Given the description of an element on the screen output the (x, y) to click on. 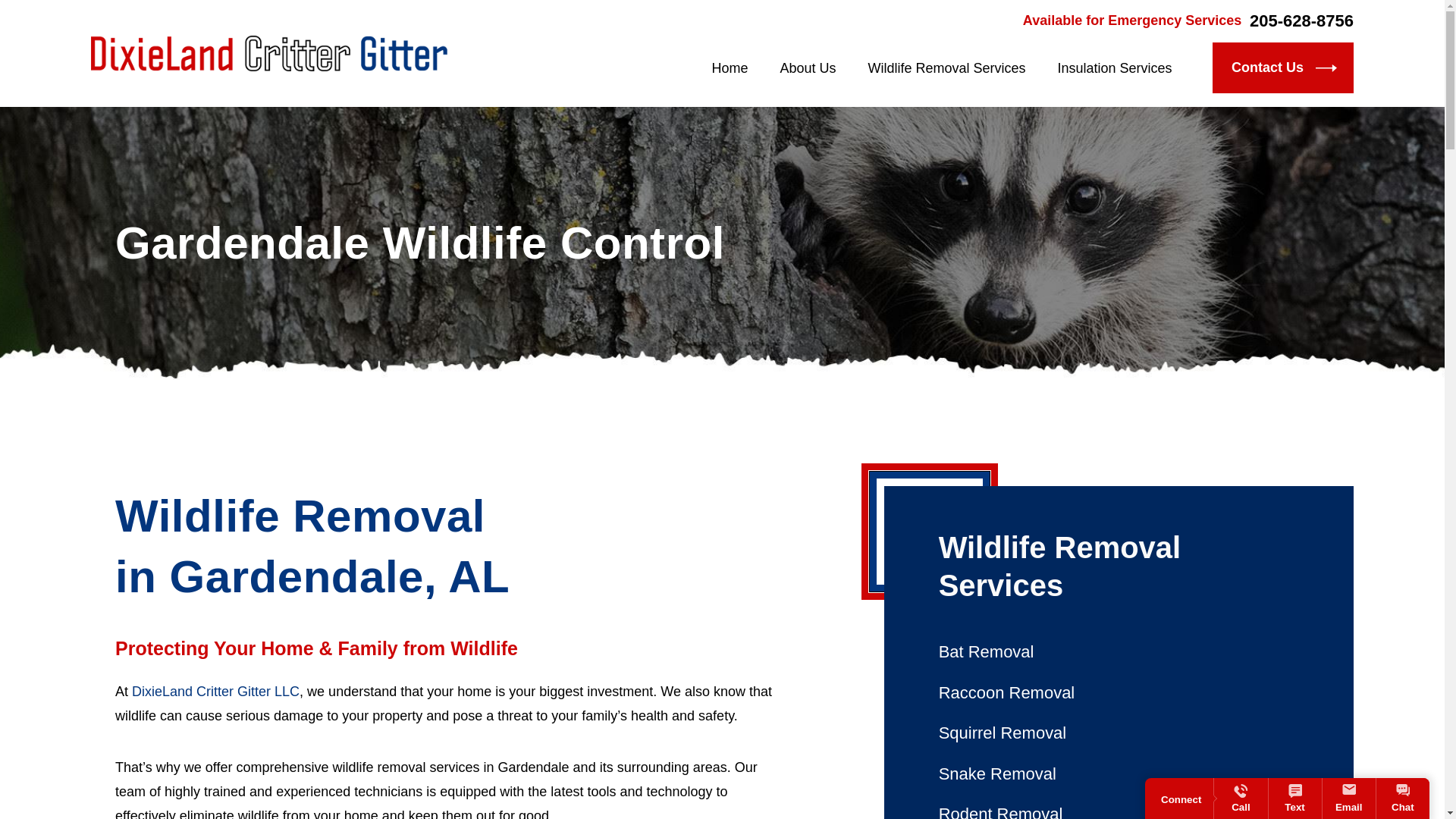
Rodent Removal (1118, 806)
Wildlife Removal Services (1118, 566)
DixieLand Critter Gitter, LLC (268, 54)
Bat Removal (1118, 651)
Home (736, 67)
DixieLand Critter Gitter LLC (215, 691)
Contact Us (1283, 68)
Snake Removal (1118, 773)
Squirrel Removal (1118, 732)
Open the accessibility options menu (31, 786)
